Given the description of an element on the screen output the (x, y) to click on. 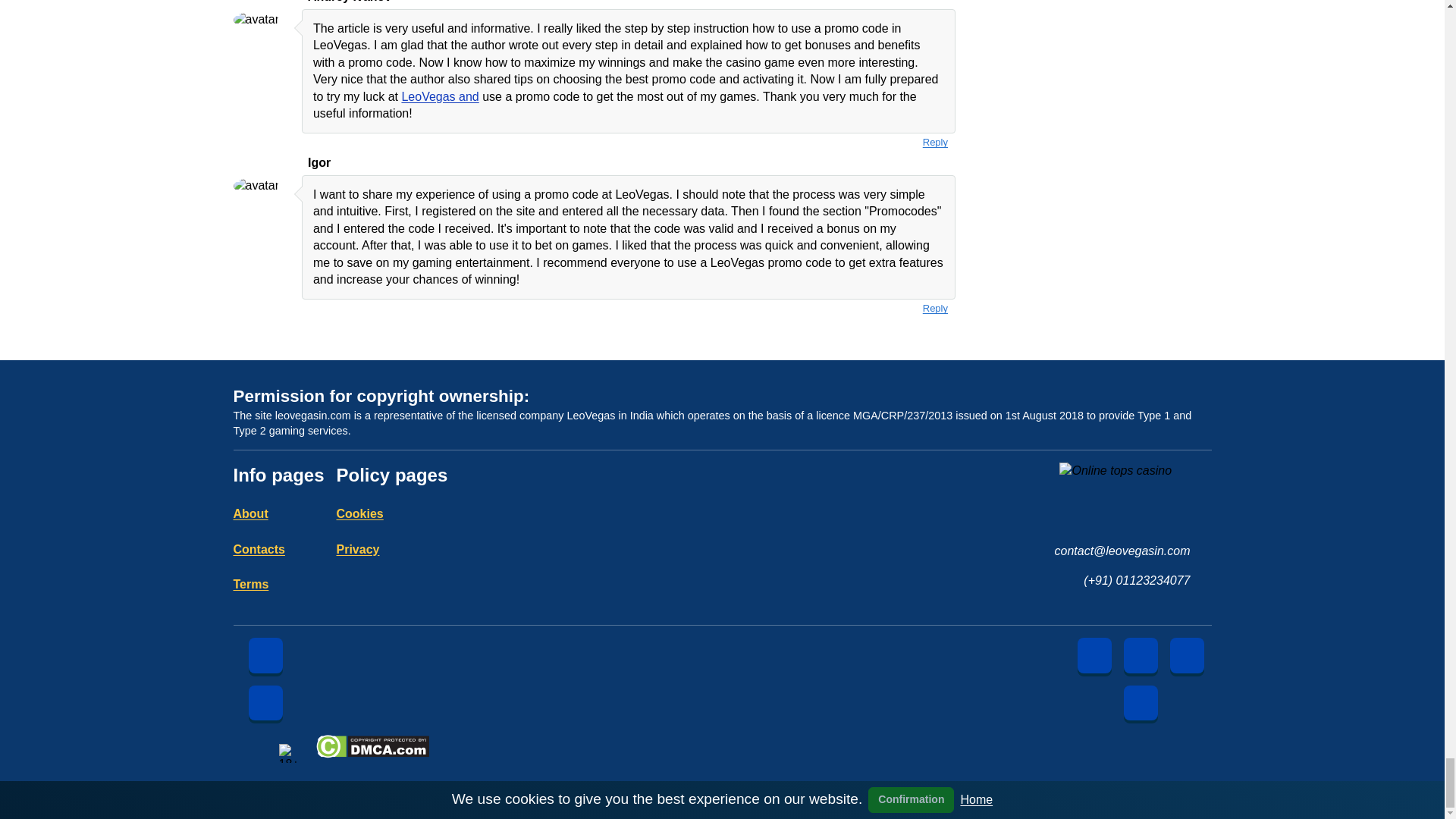
loketkansspel (964, 752)
LeoVegas and (440, 96)
camh (554, 752)
gamstop (882, 752)
DMCA.com Protection Status (371, 752)
About (249, 513)
Contacts (258, 549)
begambleaware (473, 752)
ncpgambling (1046, 752)
gamcare (800, 752)
gamblersanonymous (636, 752)
gamblingtherapy (719, 752)
